Given the description of an element on the screen output the (x, y) to click on. 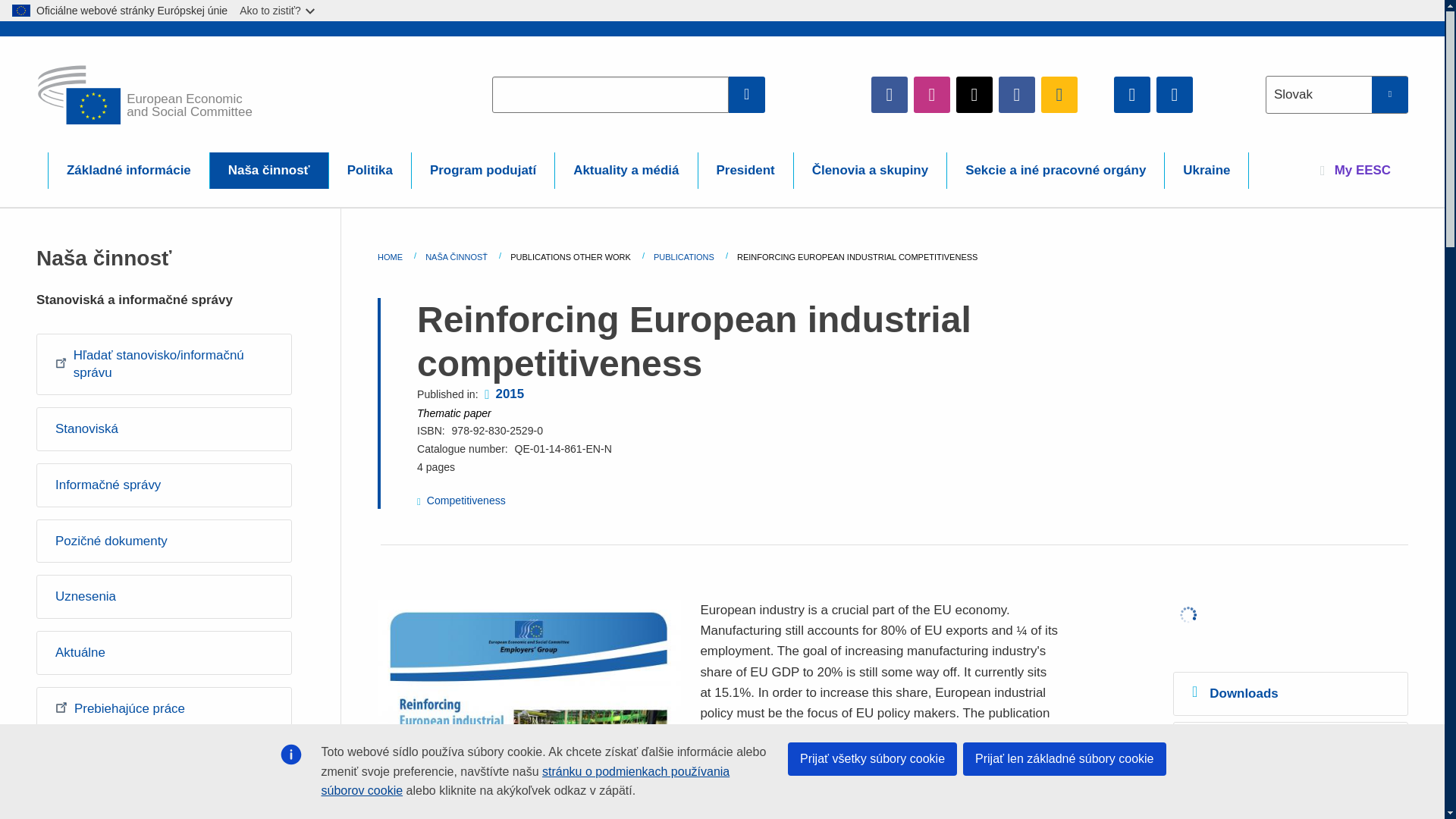
My EESC (1355, 170)
Search EESC Website (747, 94)
